Given the description of an element on the screen output the (x, y) to click on. 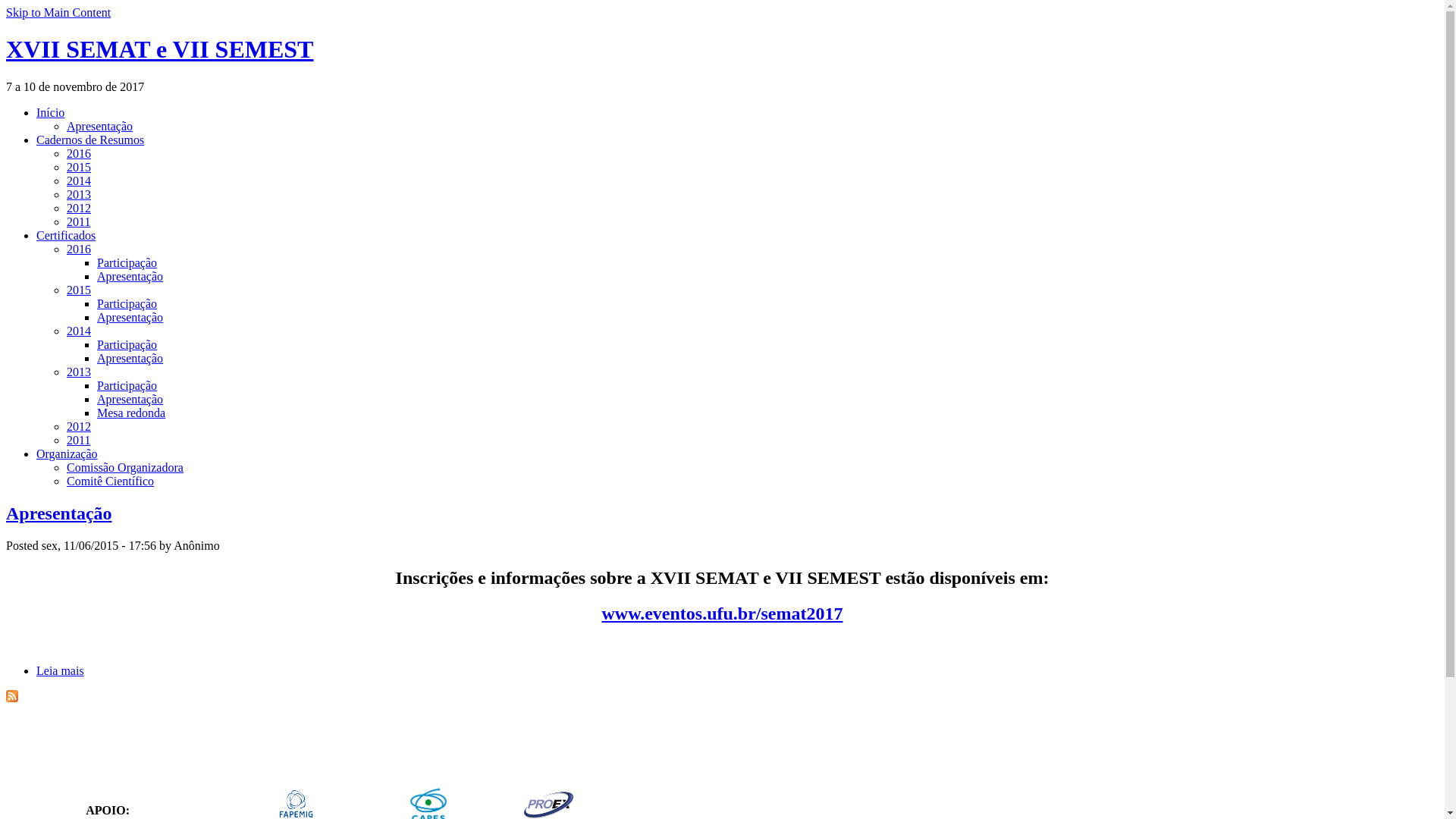
Cadernos de Resumos Element type: text (90, 139)
2015 Element type: text (78, 289)
XVII SEMAT e VII SEMEST Element type: text (159, 48)
Skip to Main Content Element type: text (58, 12)
Leia mais Element type: text (60, 670)
2016 Element type: text (78, 153)
2013 Element type: text (78, 194)
2012 Element type: text (78, 207)
2015 Element type: text (78, 166)
2011 Element type: text (78, 439)
2016 Element type: text (78, 248)
2014 Element type: text (78, 330)
Mesa redonda Element type: text (131, 412)
2014 Element type: text (78, 180)
XVII SEMAT e VII SEMEST RSS Element type: hover (12, 696)
Certificados Element type: text (65, 235)
2012 Element type: text (78, 426)
2011 Element type: text (78, 221)
2013 Element type: text (78, 371)
www.eventos.ufu.br/semat2017 Element type: text (722, 613)
